Given the description of an element on the screen output the (x, y) to click on. 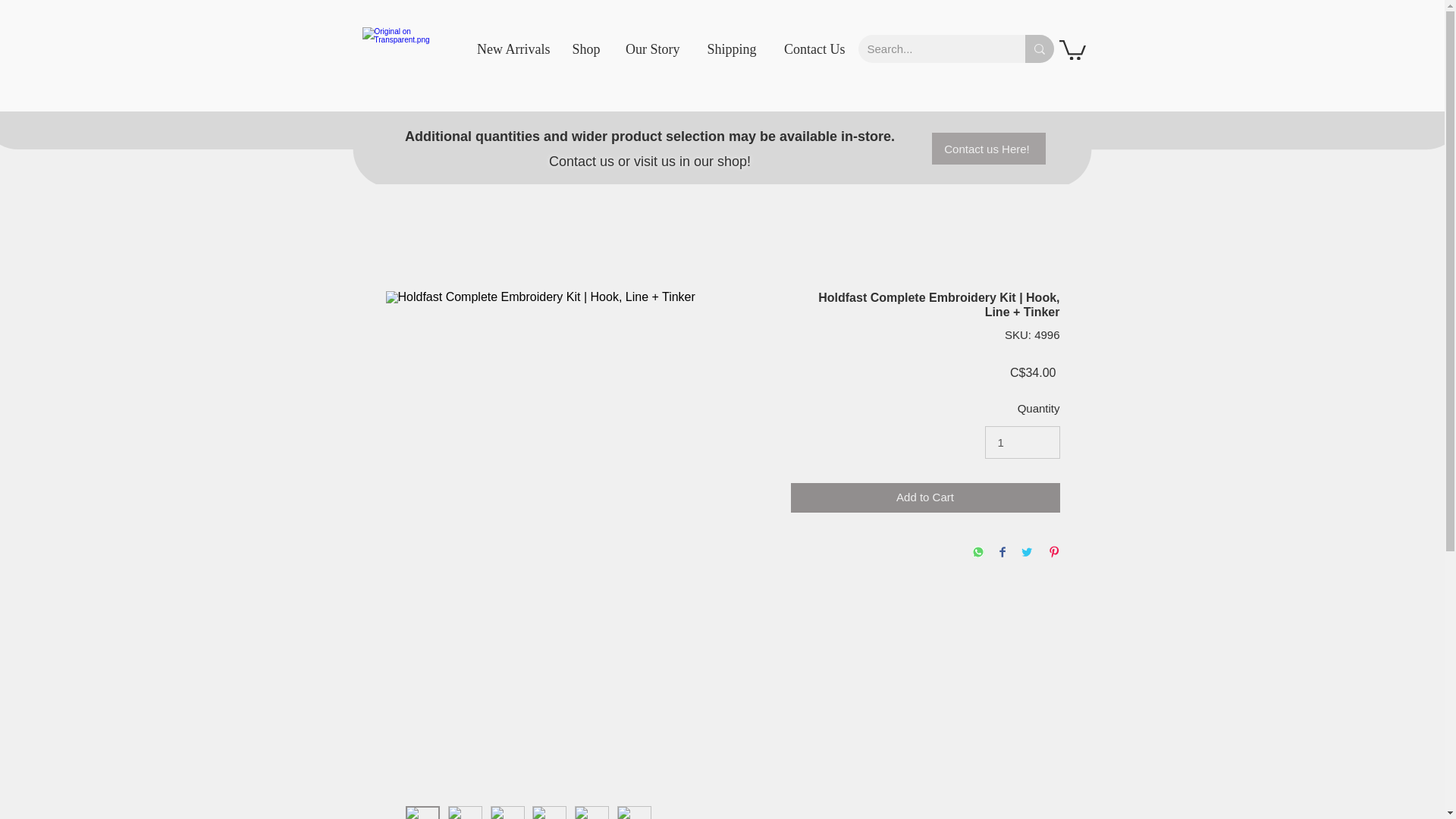
Contact Us (808, 48)
Shop (582, 48)
Contact us Here! (988, 148)
Add to Cart (924, 497)
1 (1022, 442)
Our Story (647, 48)
Shipping (724, 48)
New Arrivals (505, 48)
